Given the description of an element on the screen output the (x, y) to click on. 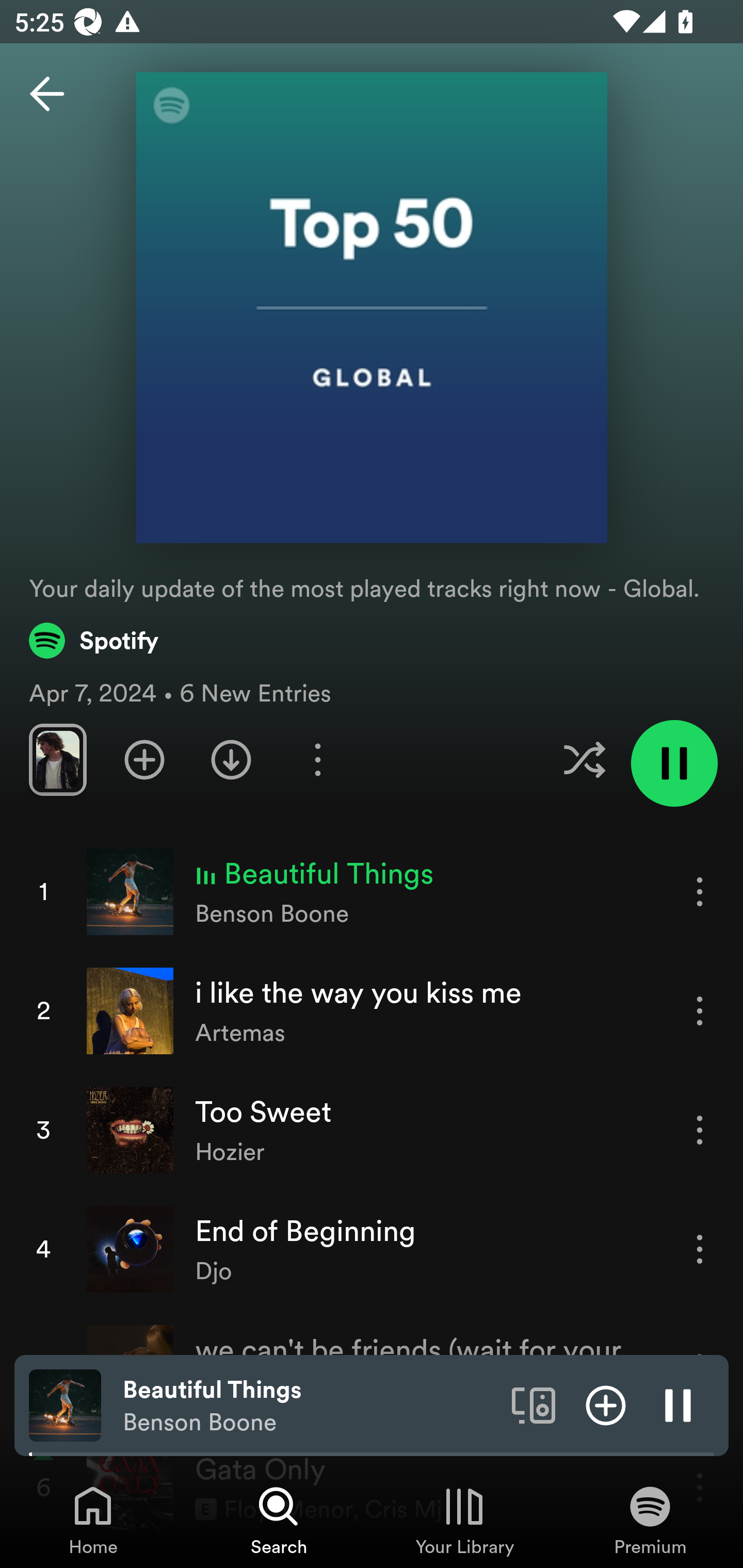
Back (46, 93)
Spotify (93, 640)
Swipe through previews of tracks in this playlist. (57, 759)
Add playlist to Your Library (144, 759)
Download (230, 759)
More options for playlist Top 50 - Global (317, 759)
Enable shuffle for this playlist (583, 759)
Pause playlist (674, 763)
More options for song Beautiful Things (699, 891)
More options for song i like the way you kiss me (699, 1010)
3 Too Sweet Hozier More options for song Too Sweet (371, 1130)
More options for song Too Sweet (699, 1129)
More options for song End of Beginning (699, 1248)
Beautiful Things Benson Boone (309, 1405)
The cover art of the currently playing track (64, 1404)
Connect to a device. Opens the devices menu (533, 1404)
Add item (605, 1404)
Pause (677, 1404)
Home, Tab 1 of 4 Home Home (92, 1519)
Search, Tab 2 of 4 Search Search (278, 1519)
Your Library, Tab 3 of 4 Your Library Your Library (464, 1519)
Premium, Tab 4 of 4 Premium Premium (650, 1519)
